Given the description of an element on the screen output the (x, y) to click on. 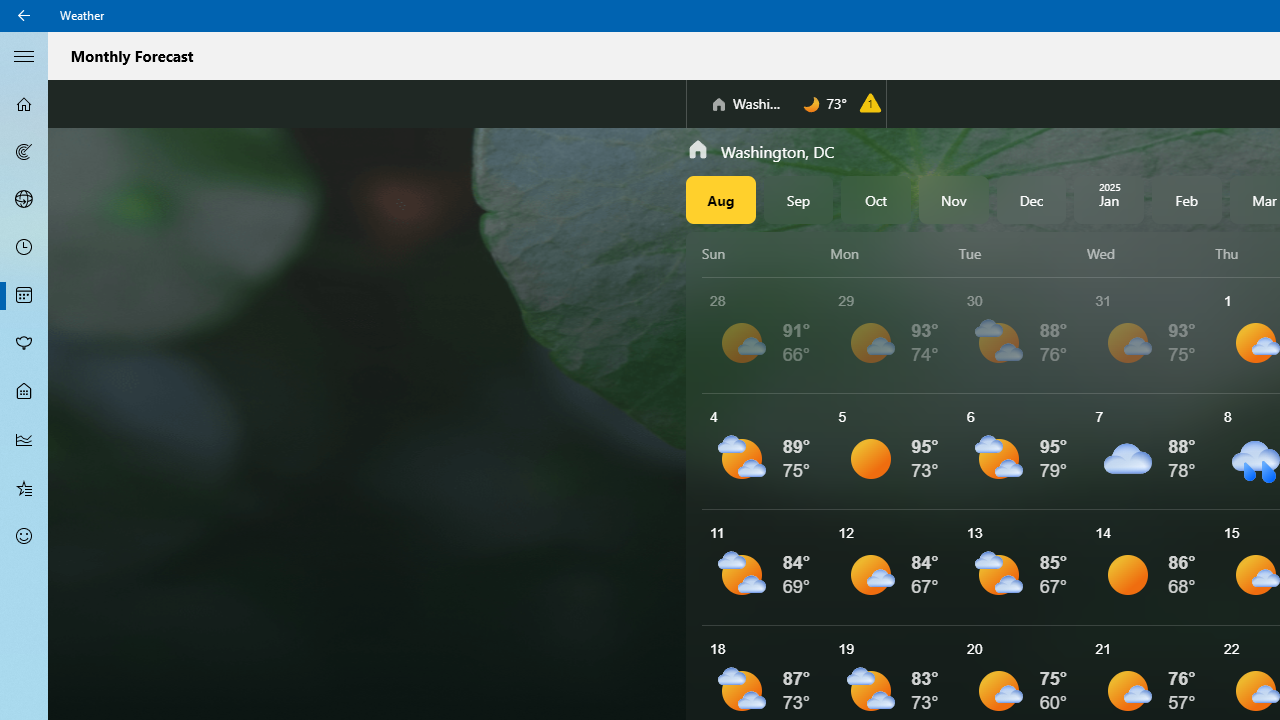
Favorites - Not Selected (24, 487)
Life - Not Selected (24, 391)
Send Feedback - Not Selected (24, 535)
Historical Weather - Not Selected (24, 439)
Collapse Navigation (24, 55)
Pollen - Not Selected (24, 343)
Monthly Forecast - Not Selected (24, 295)
Hourly Forecast - Not Selected (24, 247)
3D Maps - Not Selected (24, 199)
Hourly Forecast - Not Selected (24, 247)
Send Feedback - Not Selected (24, 535)
Pollen - Not Selected (24, 343)
3D Maps - Not Selected (24, 199)
Life - Not Selected (24, 391)
